Given the description of an element on the screen output the (x, y) to click on. 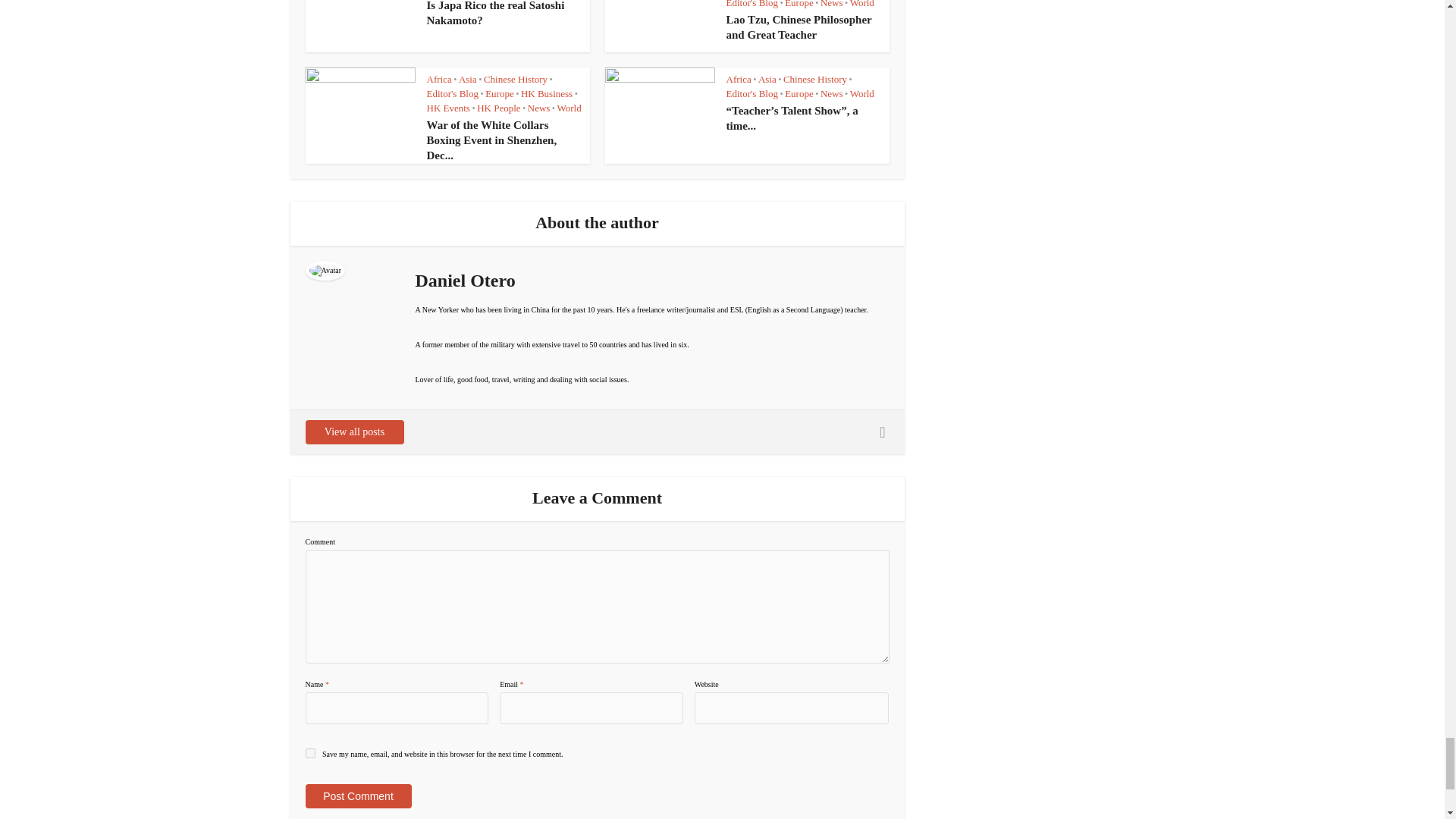
Lao Tzu, Chinese Philosopher and Great Teacher (799, 26)
Post Comment (357, 795)
War of the White Collars Boxing Event in Shenzhen, Dec 11th (491, 140)
Is Japa Rico the real Satoshi Nakamoto? (495, 13)
yes (309, 753)
